Given the description of an element on the screen output the (x, y) to click on. 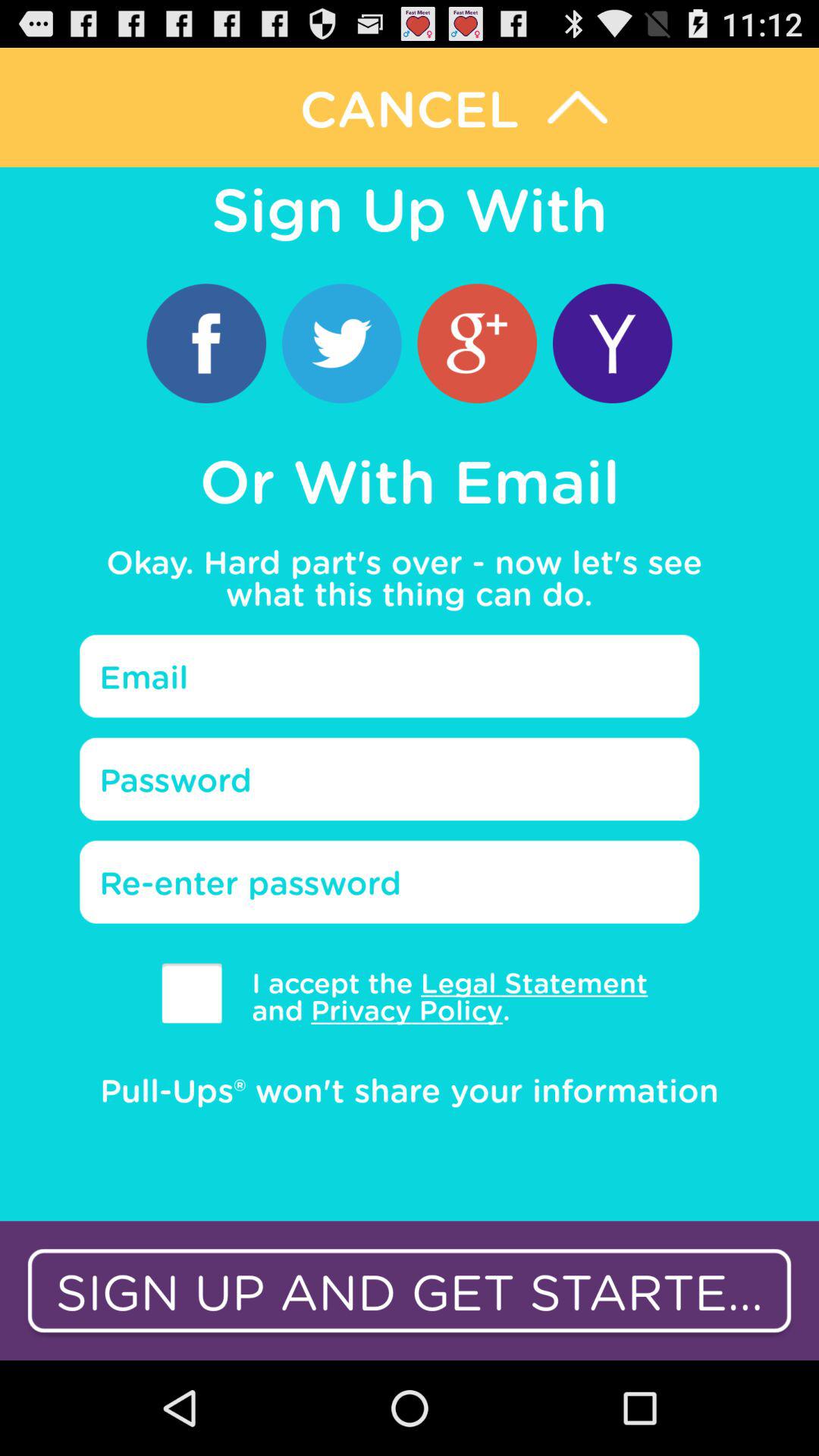
login with google (476, 343)
